Given the description of an element on the screen output the (x, y) to click on. 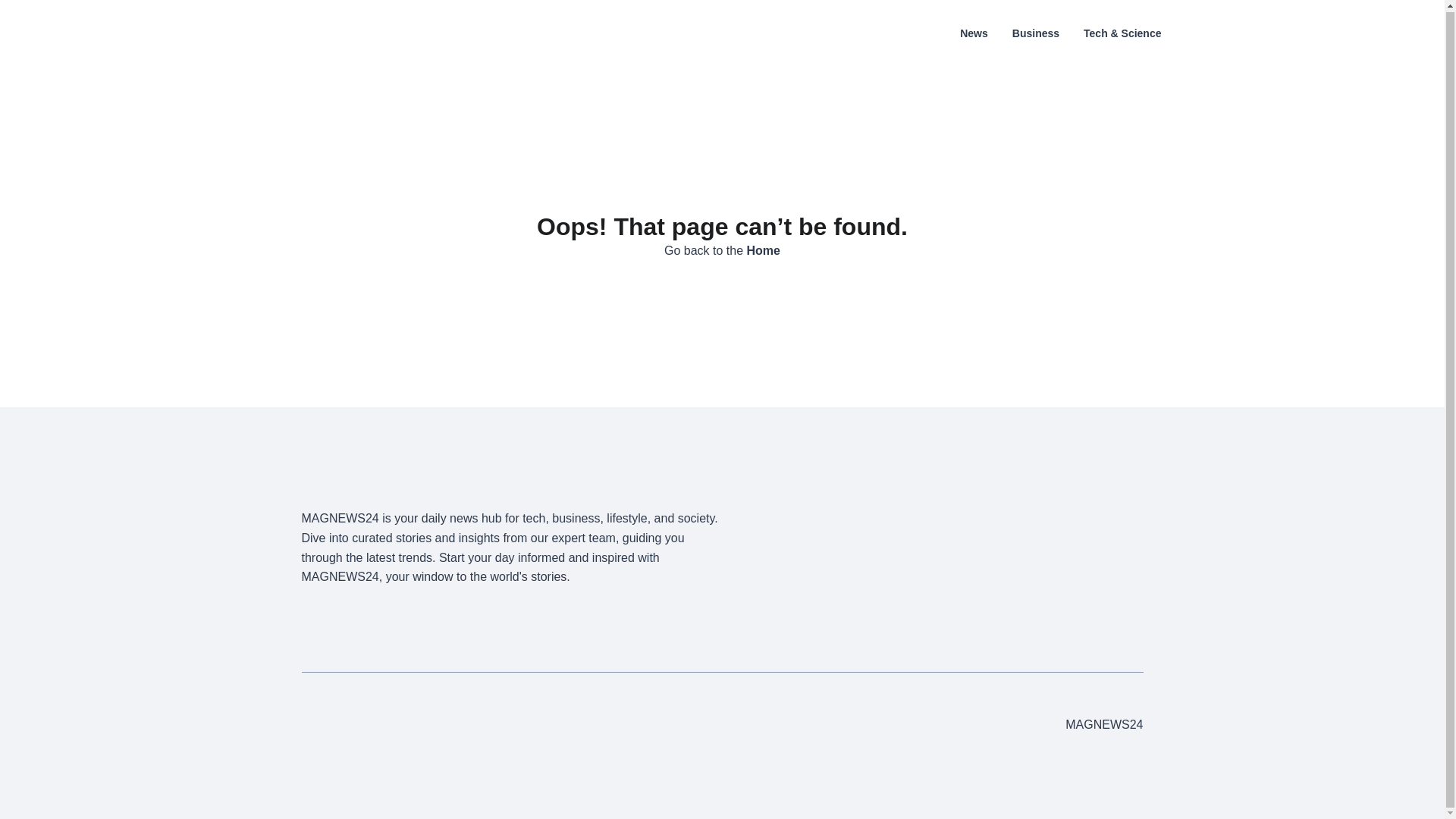
News (973, 32)
Home (763, 250)
Business (1035, 32)
